Given the description of an element on the screen output the (x, y) to click on. 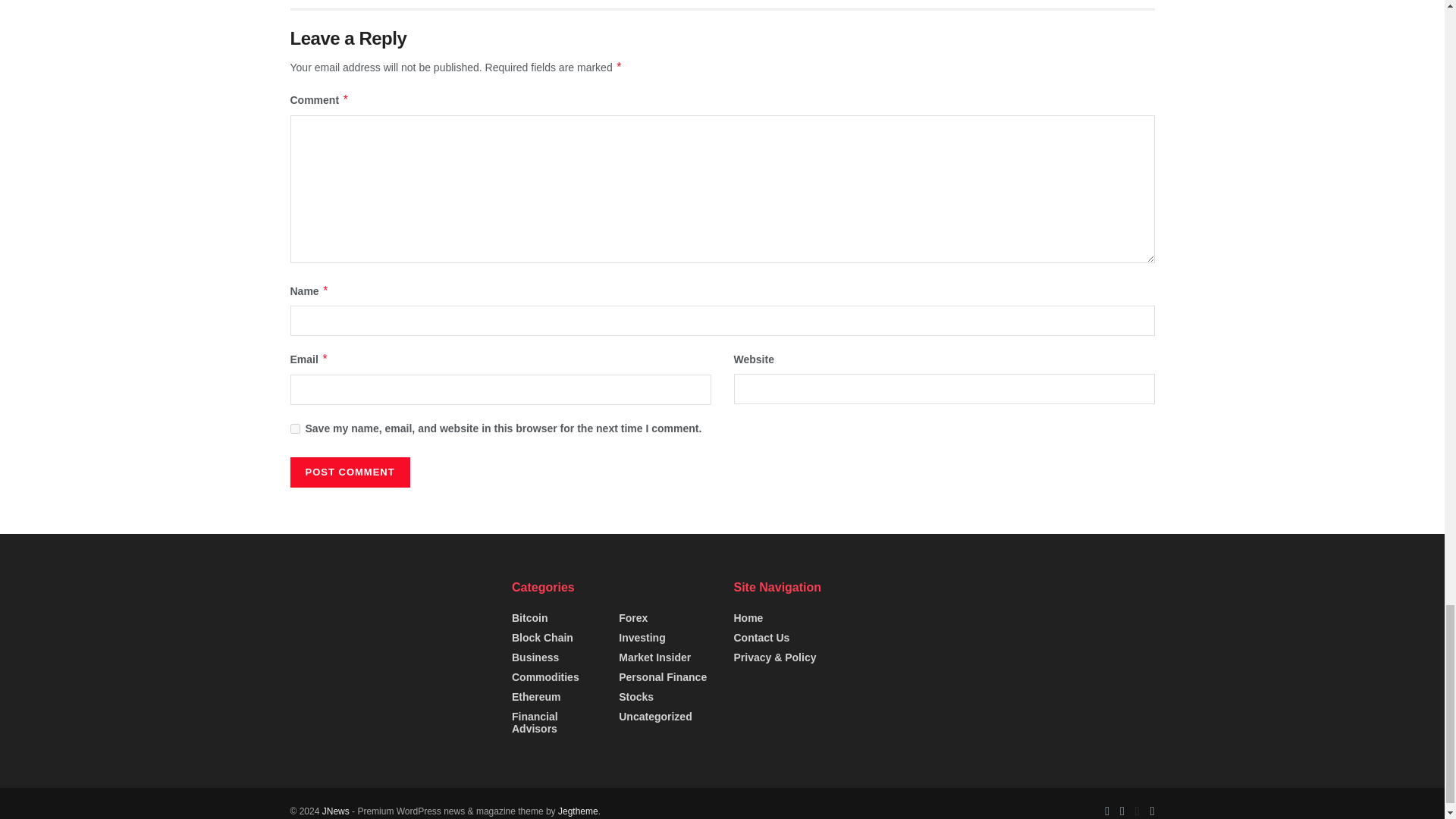
Post Comment (349, 472)
yes (294, 429)
Jegtheme (577, 810)
